Given the description of an element on the screen output the (x, y) to click on. 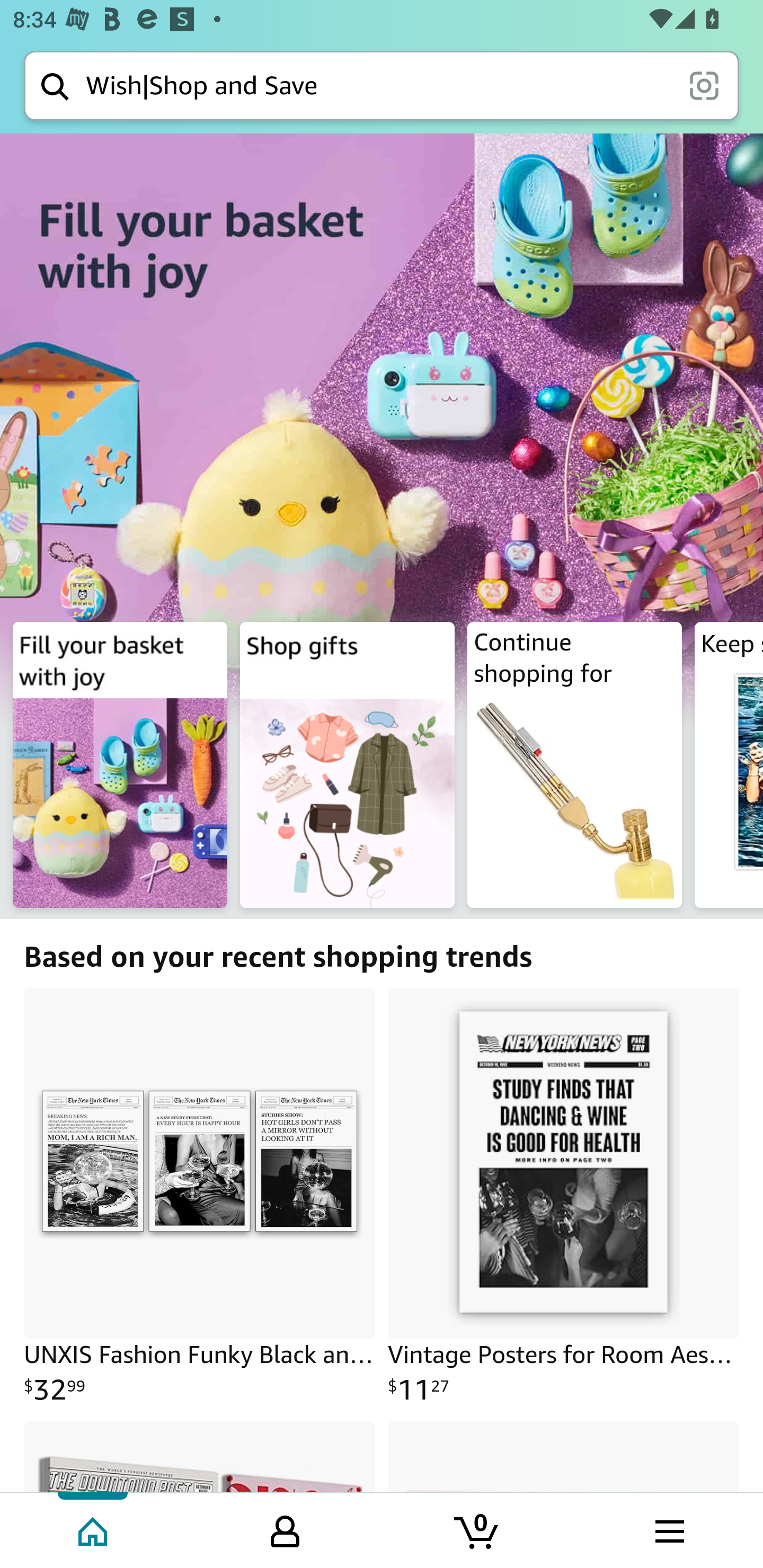
Search Search Wish|Shop and Save scan it (381, 85)
scan it (704, 85)
Fill your basket with joy (381, 467)
Home Tab 1 of 4 (94, 1529)
Your Amazon.com Tab 2 of 4 (285, 1529)
Cart 0 item Tab 3 of 4 0 (477, 1529)
Browse menu Tab 4 of 4 (668, 1529)
